Given the description of an element on the screen output the (x, y) to click on. 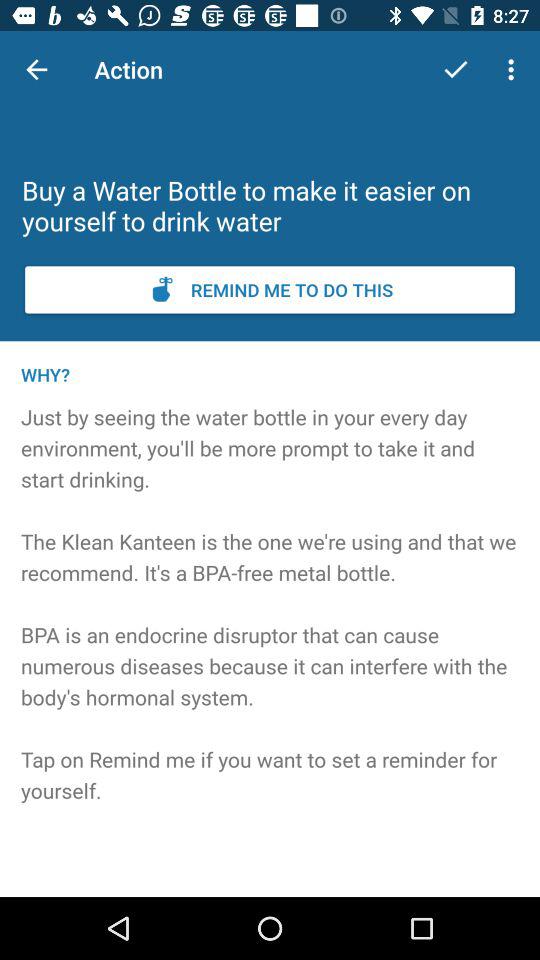
tap icon next to the action icon (455, 69)
